Given the description of an element on the screen output the (x, y) to click on. 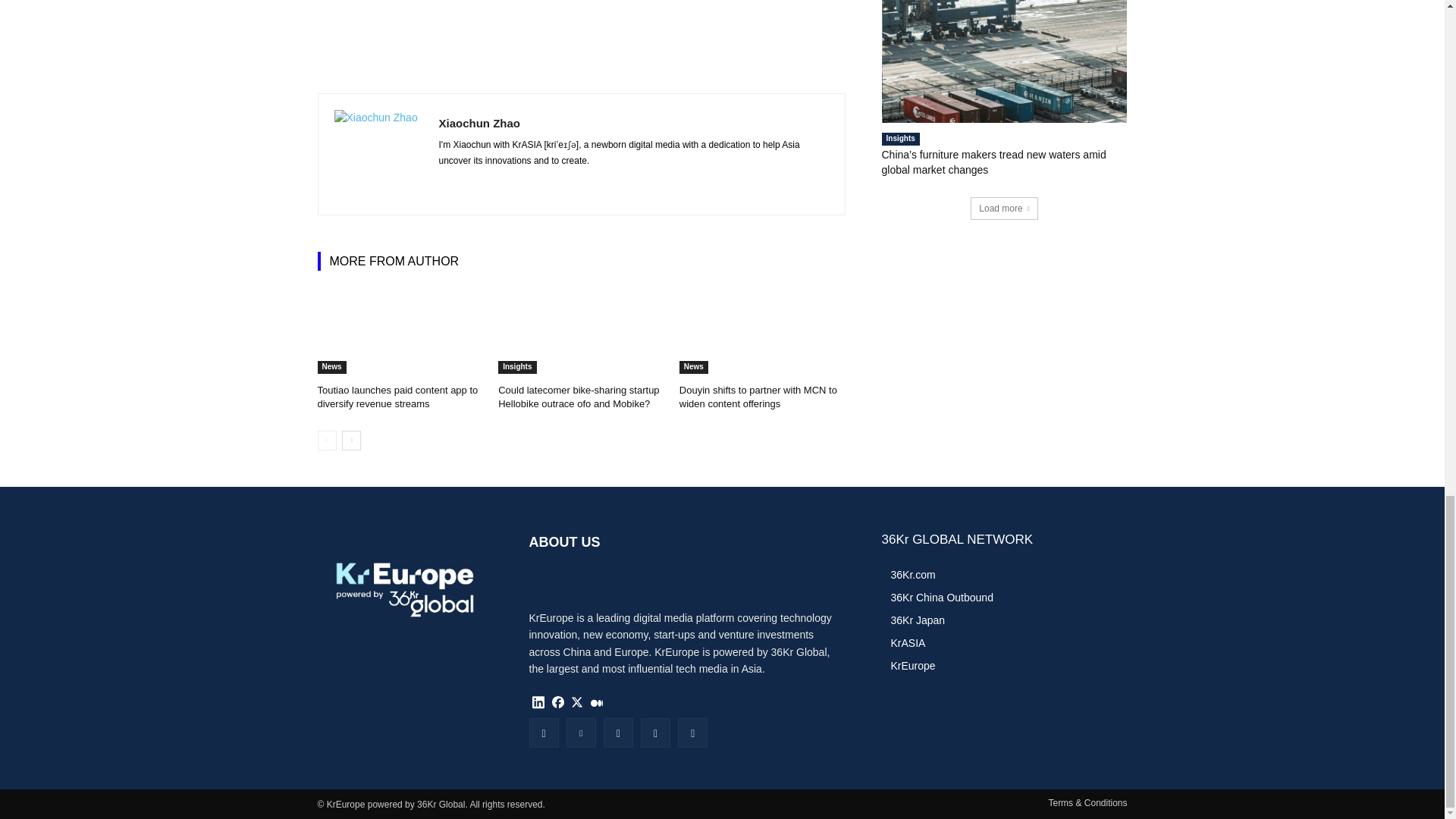
Xiaochun Zhao (377, 154)
